Given the description of an element on the screen output the (x, y) to click on. 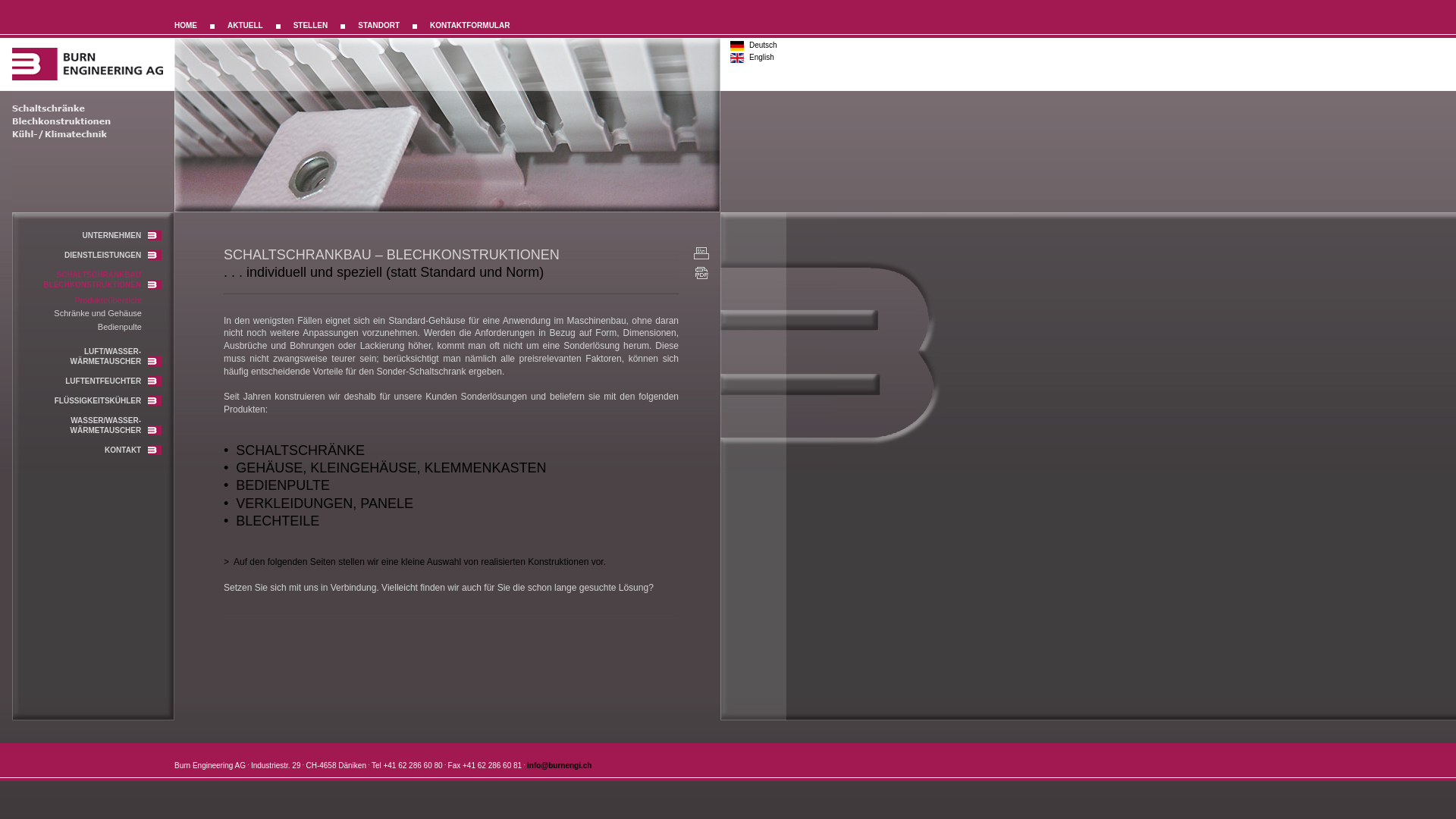
LUFTENTFEUCHTER  Element type: text (113, 380)
Diesen Artikel als PDF generieren Element type: hover (699, 272)
STELLEN Element type: text (310, 25)
Bedienpulte Element type: text (119, 326)
STANDORT Element type: text (378, 25)
English Element type: text (761, 57)
KONTAKT  Element type: text (132, 449)
info@burnengi.ch Element type: text (559, 765)
KONTAKTFORMULAR Element type: text (469, 25)
SCHALTSCHRANKBAU
BLECHKONSTRUKTIONEN  Element type: text (102, 279)
UNTERNEHMEN  Element type: text (121, 235)
AKTUELL Element type: text (245, 25)
HOME Element type: text (185, 25)
Deutsch Element type: text (763, 44)
Diesen Artikel drucken Element type: hover (699, 254)
DIENSTLEISTUNGEN  Element type: text (112, 255)
